Given the description of an element on the screen output the (x, y) to click on. 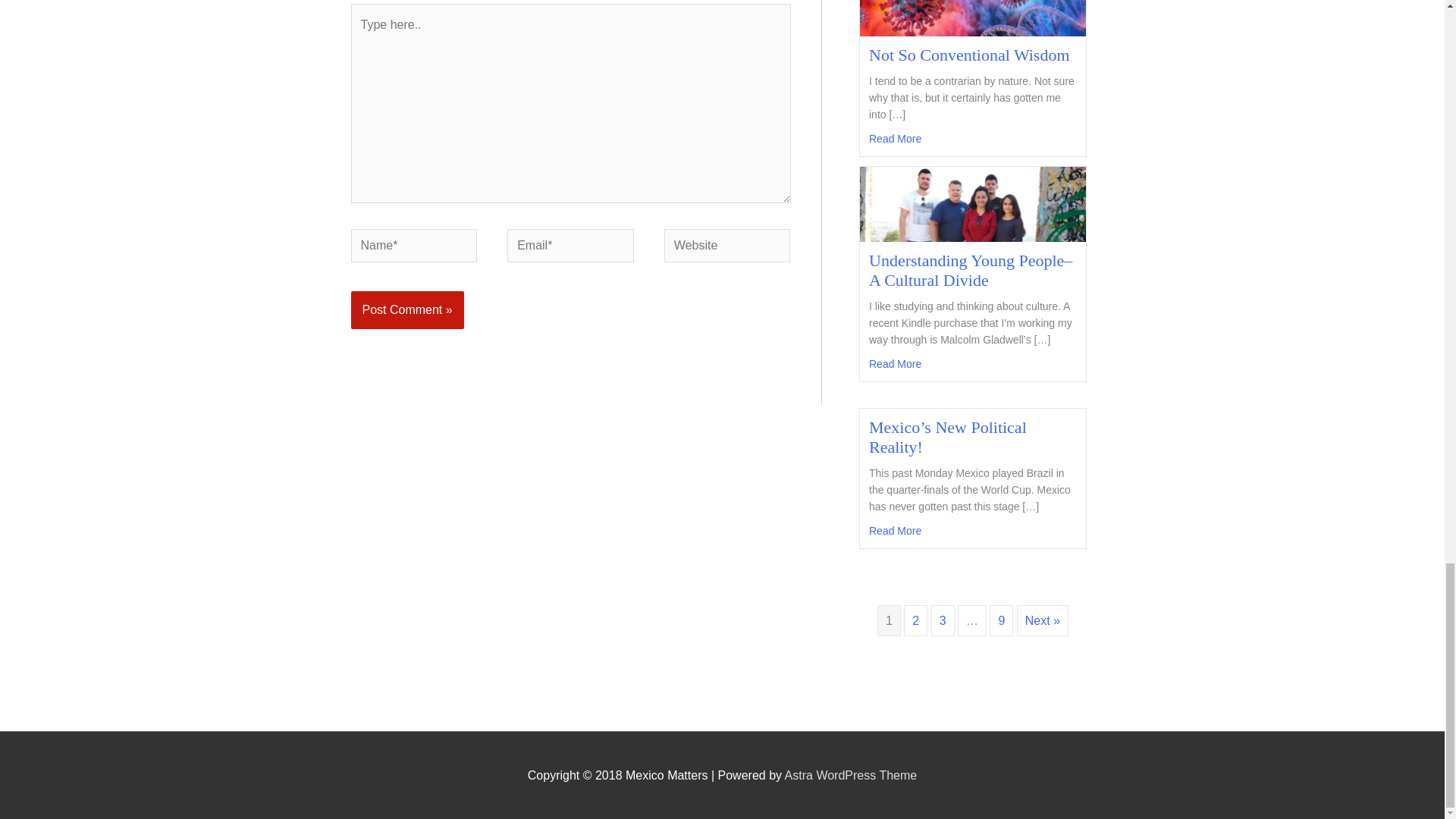
Not So Conventional Wisdom (973, 3)
Read More (895, 138)
Read More (895, 363)
Astra WordPress Theme (850, 775)
Read More (895, 530)
Not So Conventional Wisdom (895, 138)
Not So Conventional Wisdom (969, 54)
Not So Conventional Wisdom (969, 54)
